Given the description of an element on the screen output the (x, y) to click on. 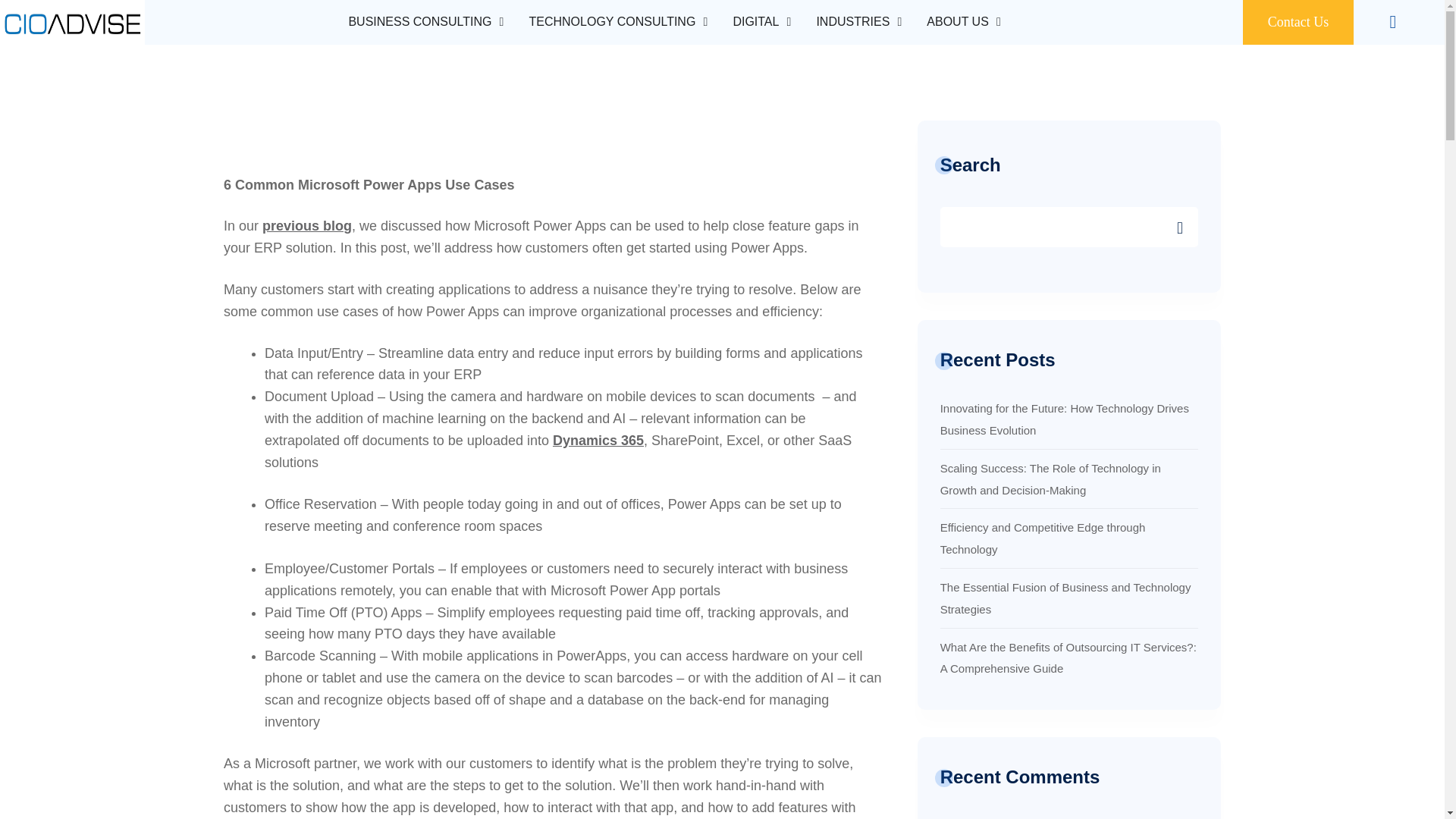
BUSINESS CONSULTING (419, 22)
DIGITAL (755, 22)
TECHNOLOGY CONSULTING (611, 22)
INDUSTRIES (852, 22)
ABOUT US (957, 22)
